Given the description of an element on the screen output the (x, y) to click on. 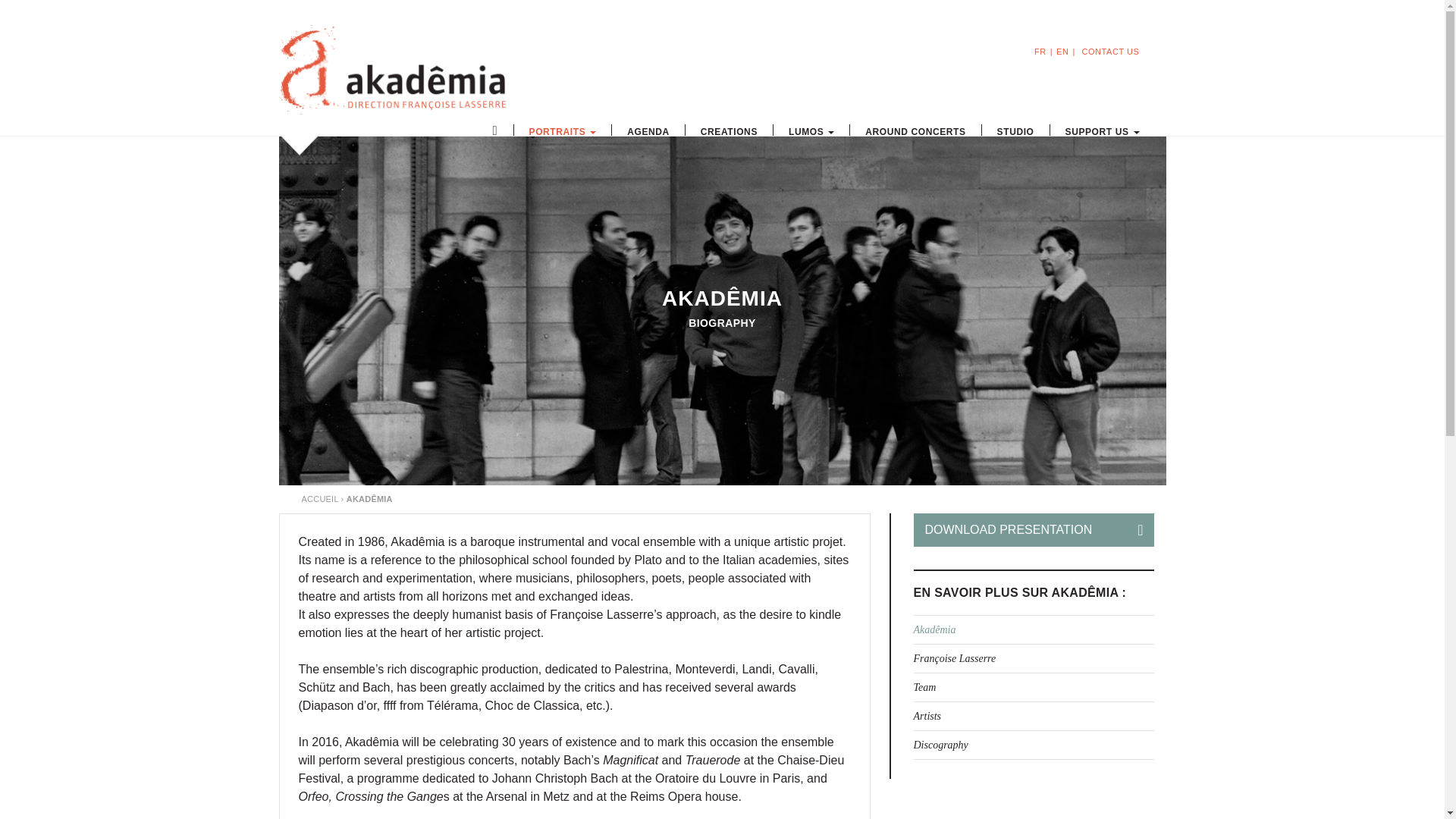
Discography (1033, 744)
SUPPORT US (1101, 129)
CREATIONS (728, 129)
Team (1033, 687)
LUMOS (810, 129)
CONTACT US (1109, 51)
Lumos (810, 129)
DOWNLOAD PRESENTATION (1033, 529)
AGENDA (647, 129)
ACCUEIL (320, 498)
Portraits (562, 129)
PORTRAITS (562, 129)
Creations (728, 129)
